Given the description of an element on the screen output the (x, y) to click on. 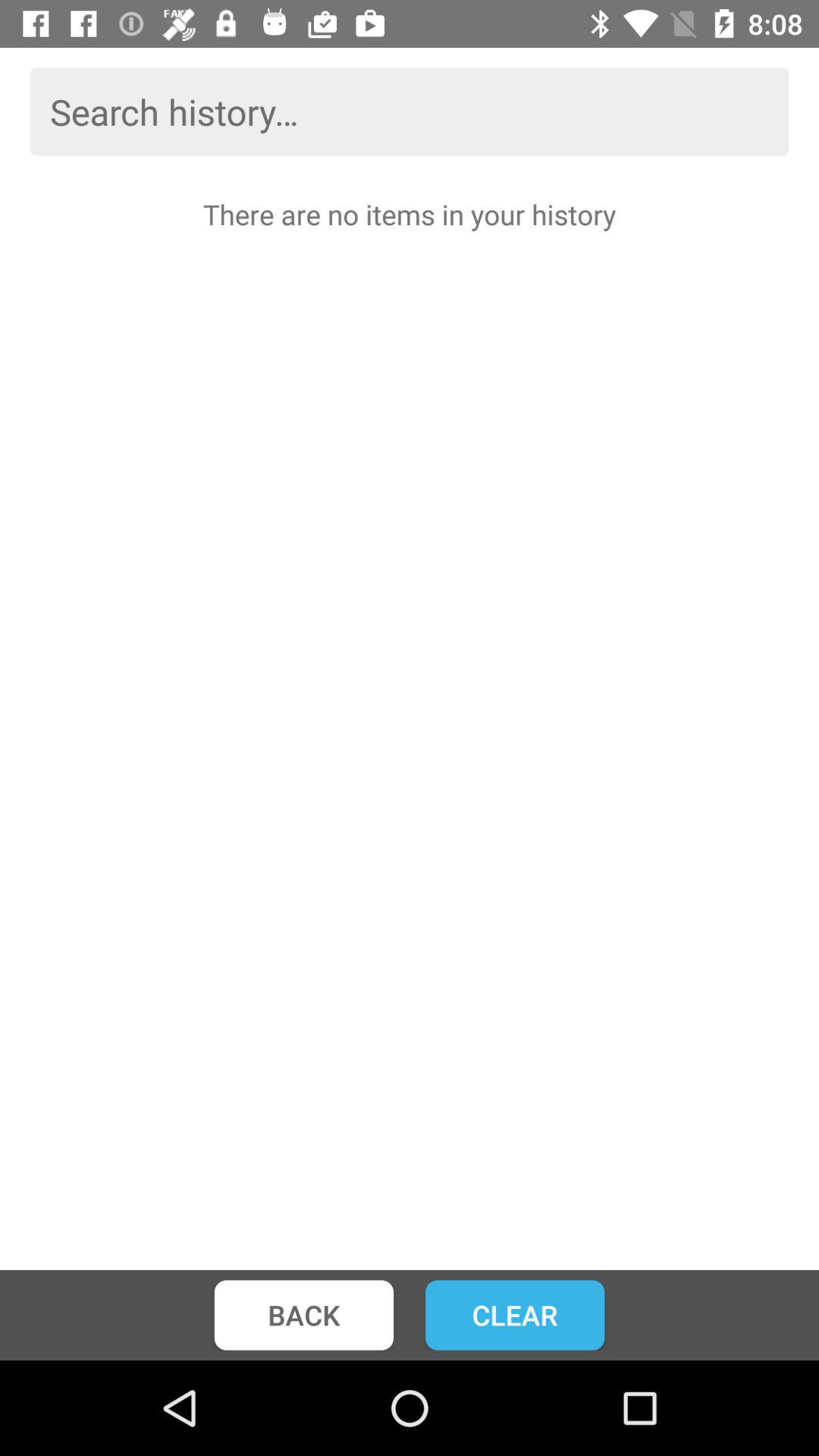
tap the clear item (514, 1315)
